Given the description of an element on the screen output the (x, y) to click on. 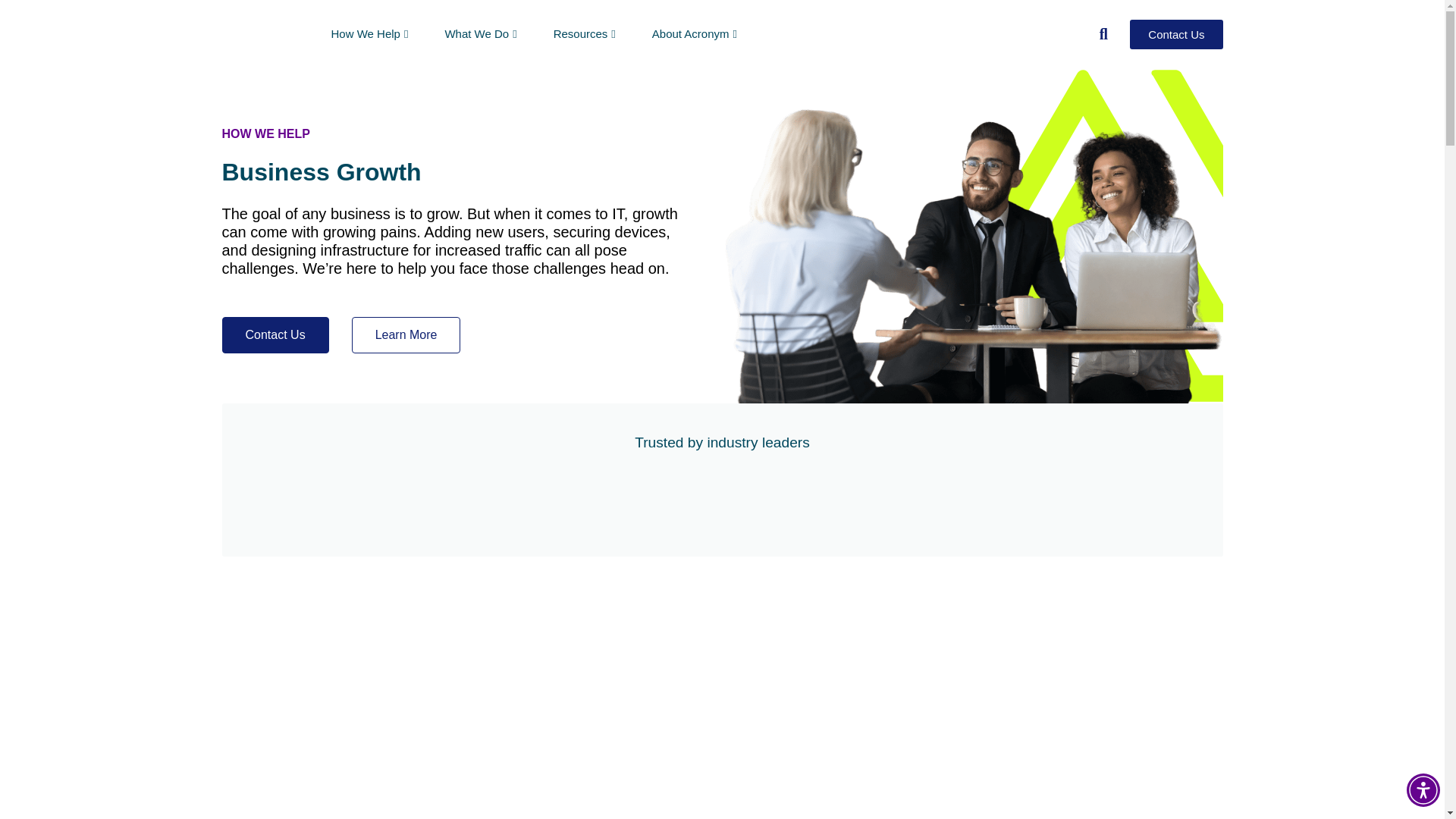
Accessibility Menu (1422, 789)
How We Help (369, 33)
What We Do (480, 33)
